Given the description of an element on the screen output the (x, y) to click on. 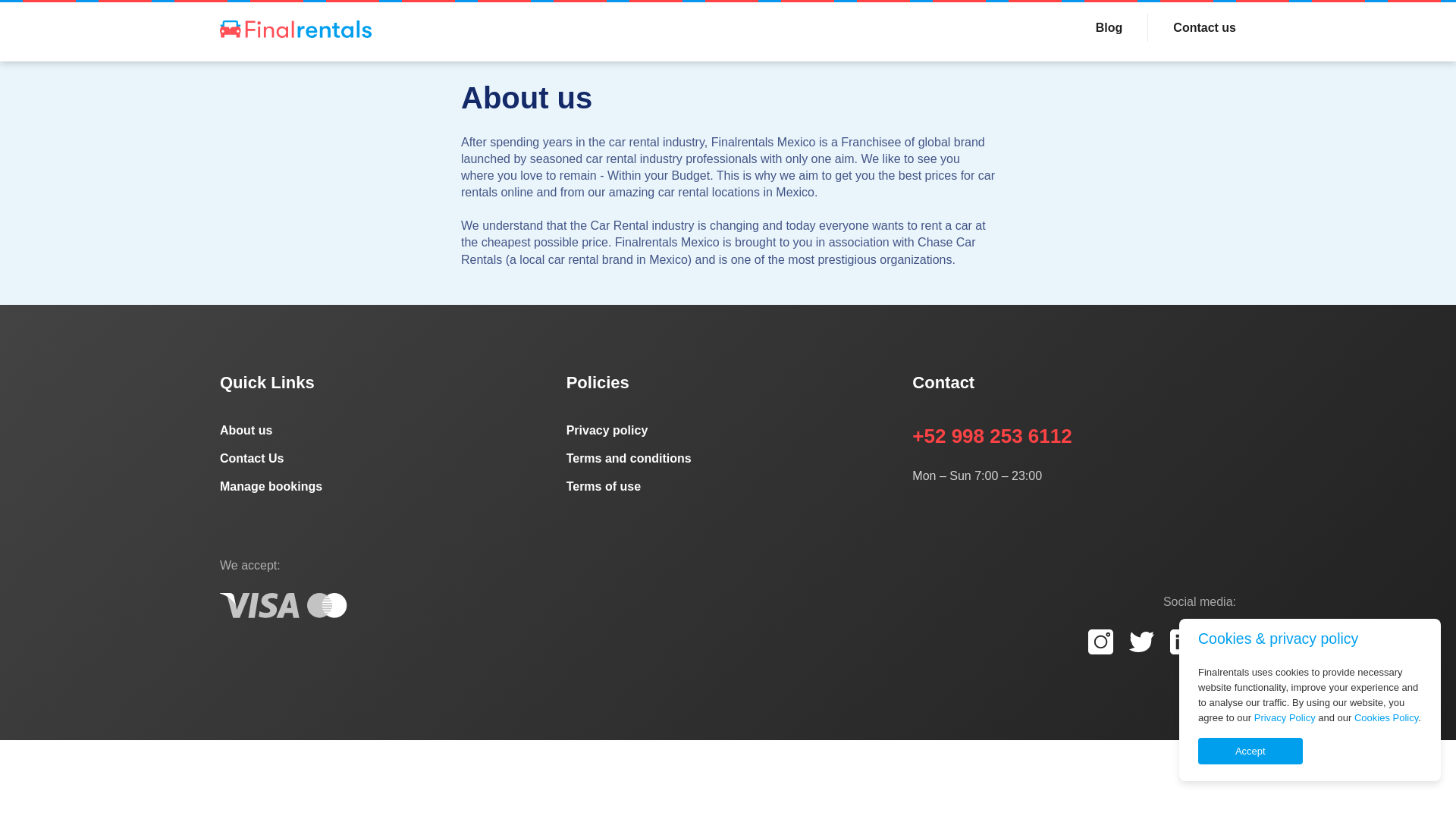
Contact Us (381, 458)
Terms and conditions (727, 458)
Blog (1109, 27)
Privacy Policy (1284, 716)
Manage bookings (381, 486)
About us (381, 430)
Terms of use (727, 486)
Privacy policy (727, 430)
Cookies Policy (1386, 716)
Contact us (1192, 27)
Accept (1250, 750)
